Given the description of an element on the screen output the (x, y) to click on. 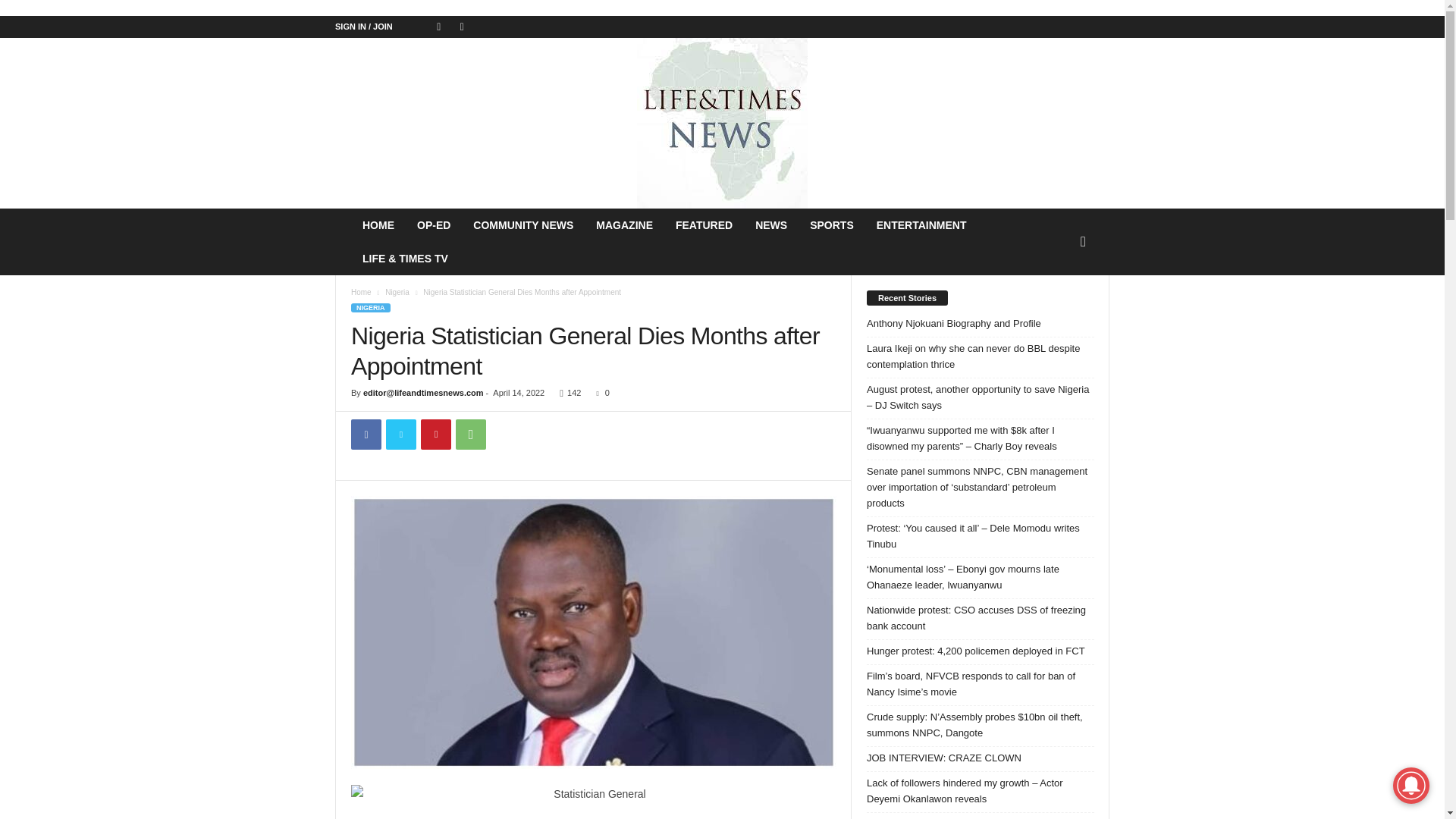
FEATURED (703, 224)
MAGAZINE (624, 224)
0 (598, 392)
SPORTS (830, 224)
WhatsApp (470, 434)
Nigeria (397, 292)
HOME (378, 224)
Home (360, 292)
4f63fb9005da26b2 (592, 632)
ENTERTAINMENT (921, 224)
NIGERIA (370, 307)
COMMUNITY NEWS (523, 224)
Pinterest (435, 434)
Facebook (365, 434)
Twitter (400, 434)
